Given the description of an element on the screen output the (x, y) to click on. 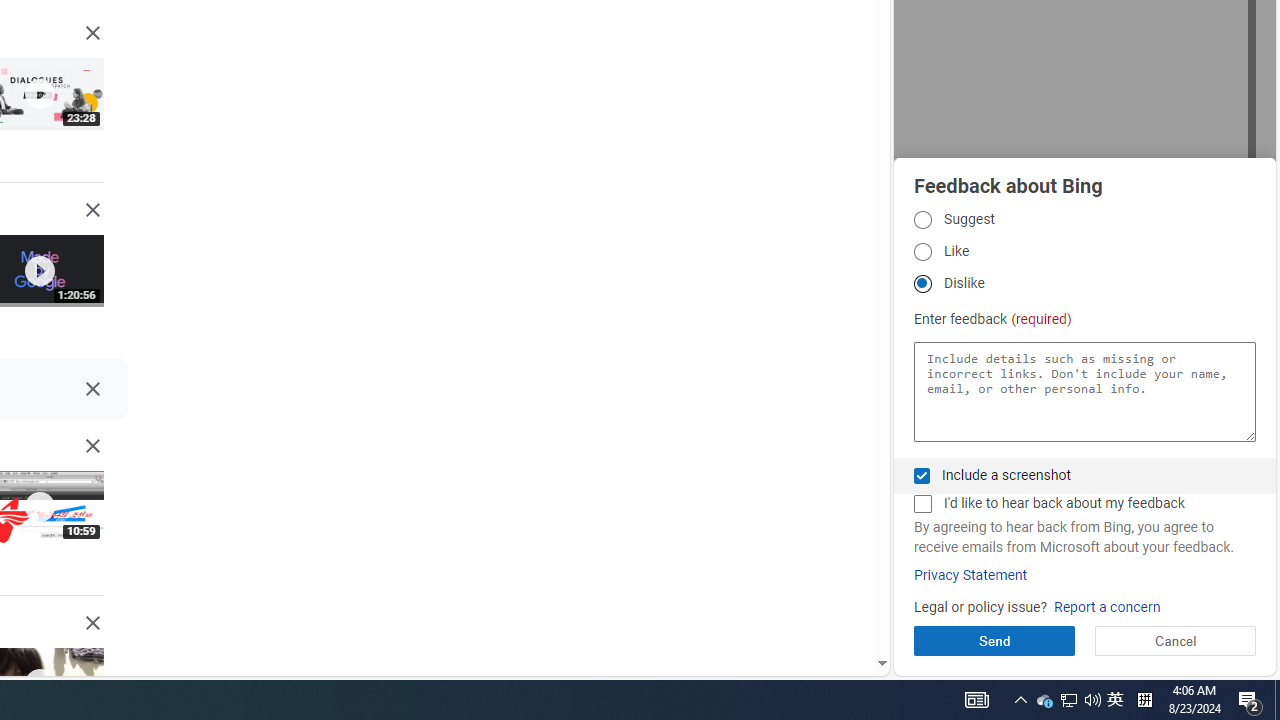
Privacy Statement (970, 575)
AutomationID: fbpgdgsschk (921, 475)
AutomationID: fbpgdgcmchk (922, 503)
Send (994, 640)
Cancel (1174, 640)
Dislike Dislike (922, 284)
Include a screenshot Include a screenshot (921, 475)
Class: TjcpUd NMm5M (91, 623)
Suggest Suggest (922, 219)
Class: IVR0f NMm5M (38, 684)
AutomationID: fbpgdgtp3 (922, 284)
